Given the description of an element on the screen output the (x, y) to click on. 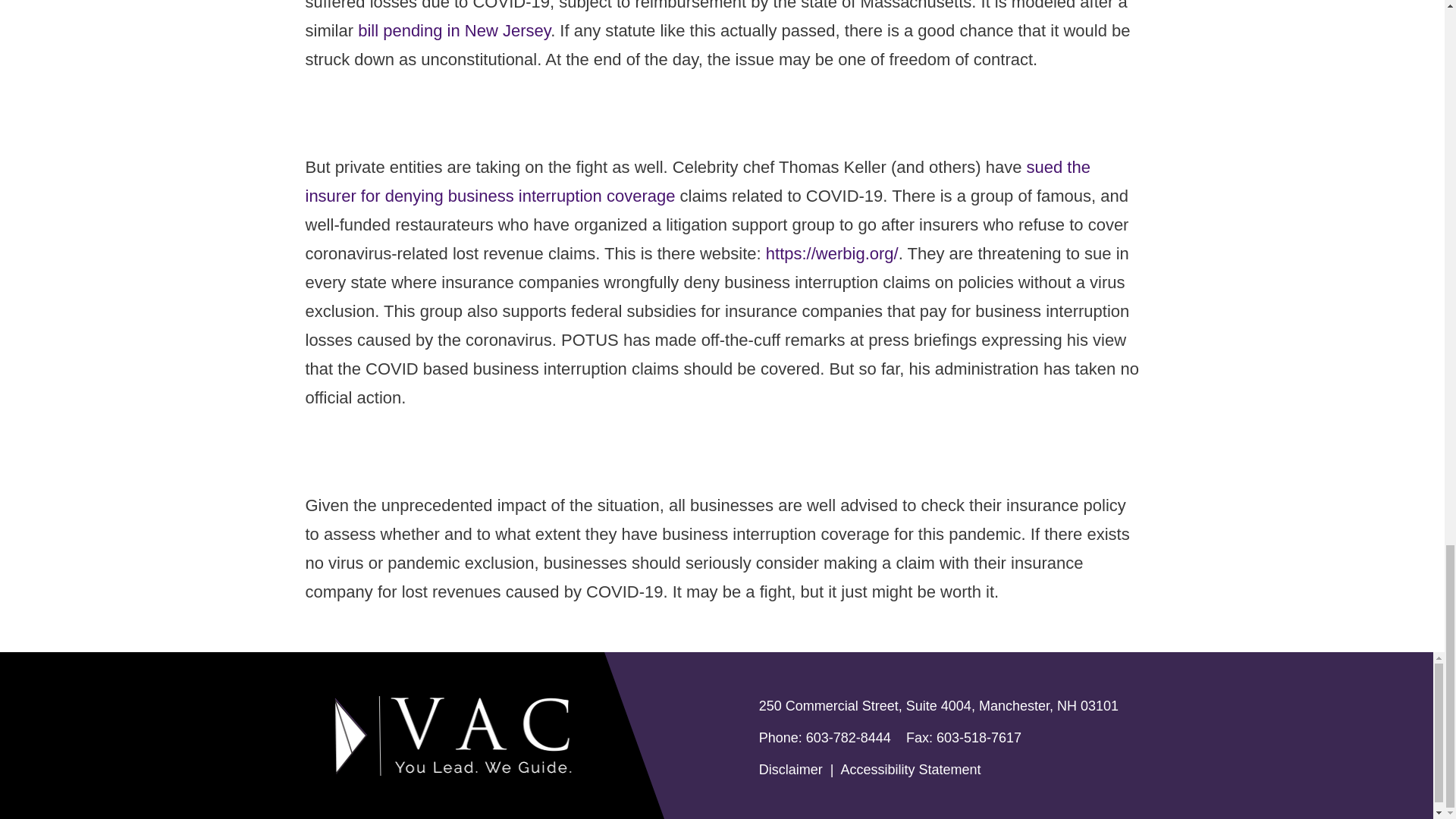
Disclaimer (790, 769)
bill pending in New Jersey (454, 30)
sued the insurer for denying business interruption coverage (696, 181)
Accessibility Statement (909, 769)
